Given the description of an element on the screen output the (x, y) to click on. 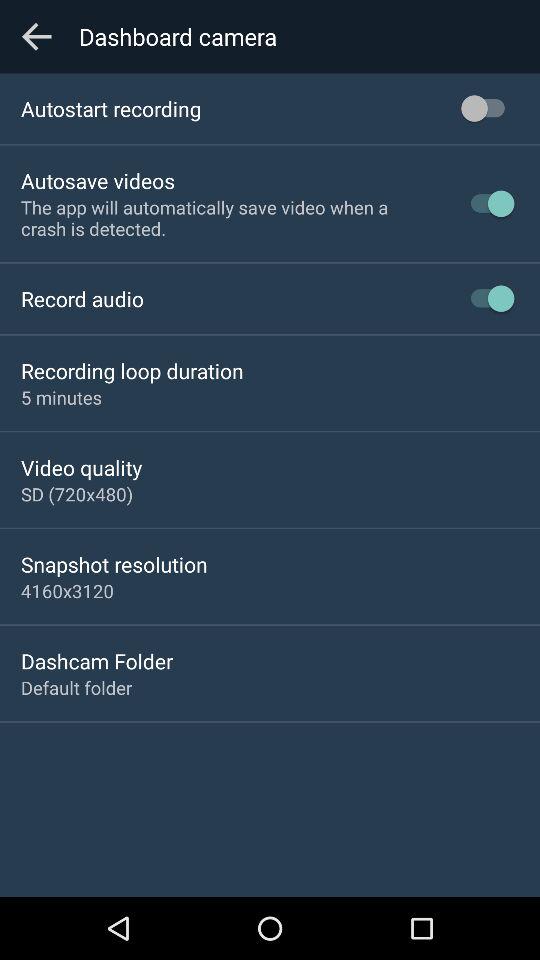
click autostart recording icon (111, 108)
